Given the description of an element on the screen output the (x, y) to click on. 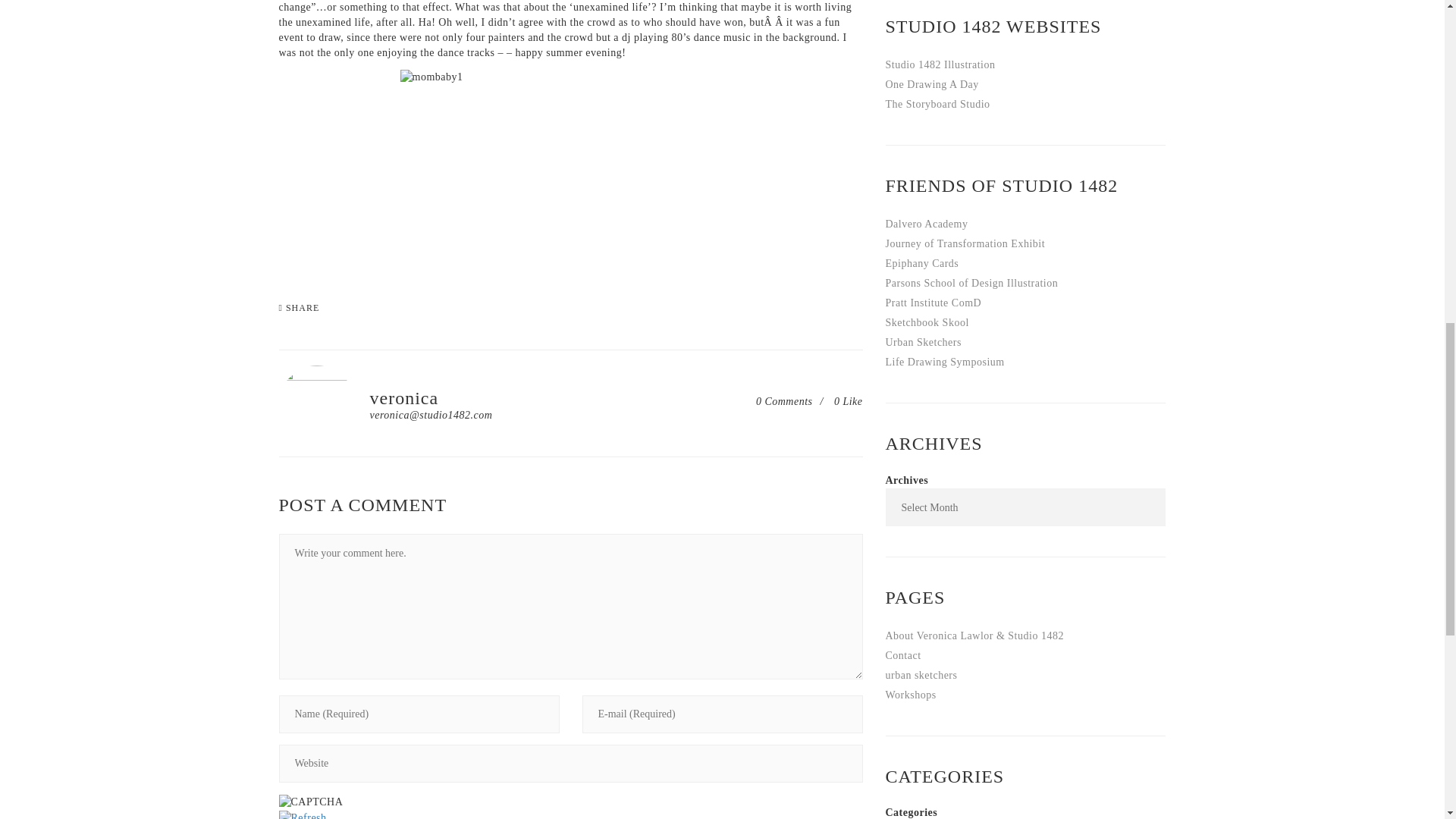
Refresh (302, 815)
storyboard studio (937, 103)
1482 group blog (931, 84)
mombaby1 (570, 169)
CAPTCHA (311, 801)
